Given the description of an element on the screen output the (x, y) to click on. 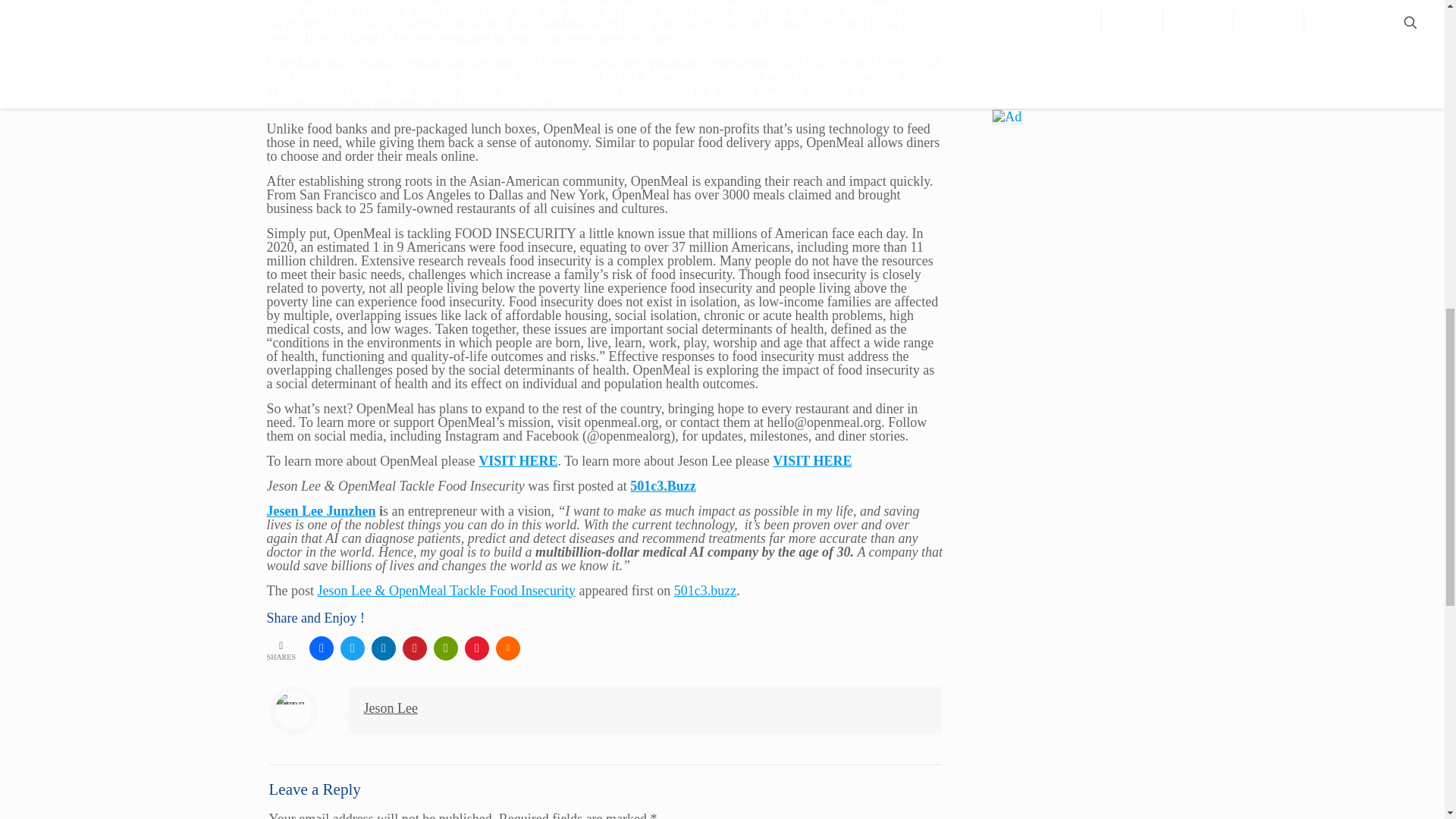
501c3.Buzz (662, 485)
Share this on Facebook (320, 648)
Print this article  (445, 648)
Tweet this ! (352, 648)
Submit this to Pinterest (414, 648)
Add this to LinkedIn (383, 648)
More share links (507, 648)
Jesen Lee Junzhen (320, 510)
501c3.buzz (705, 590)
Jeson Lee (390, 708)
